Given the description of an element on the screen output the (x, y) to click on. 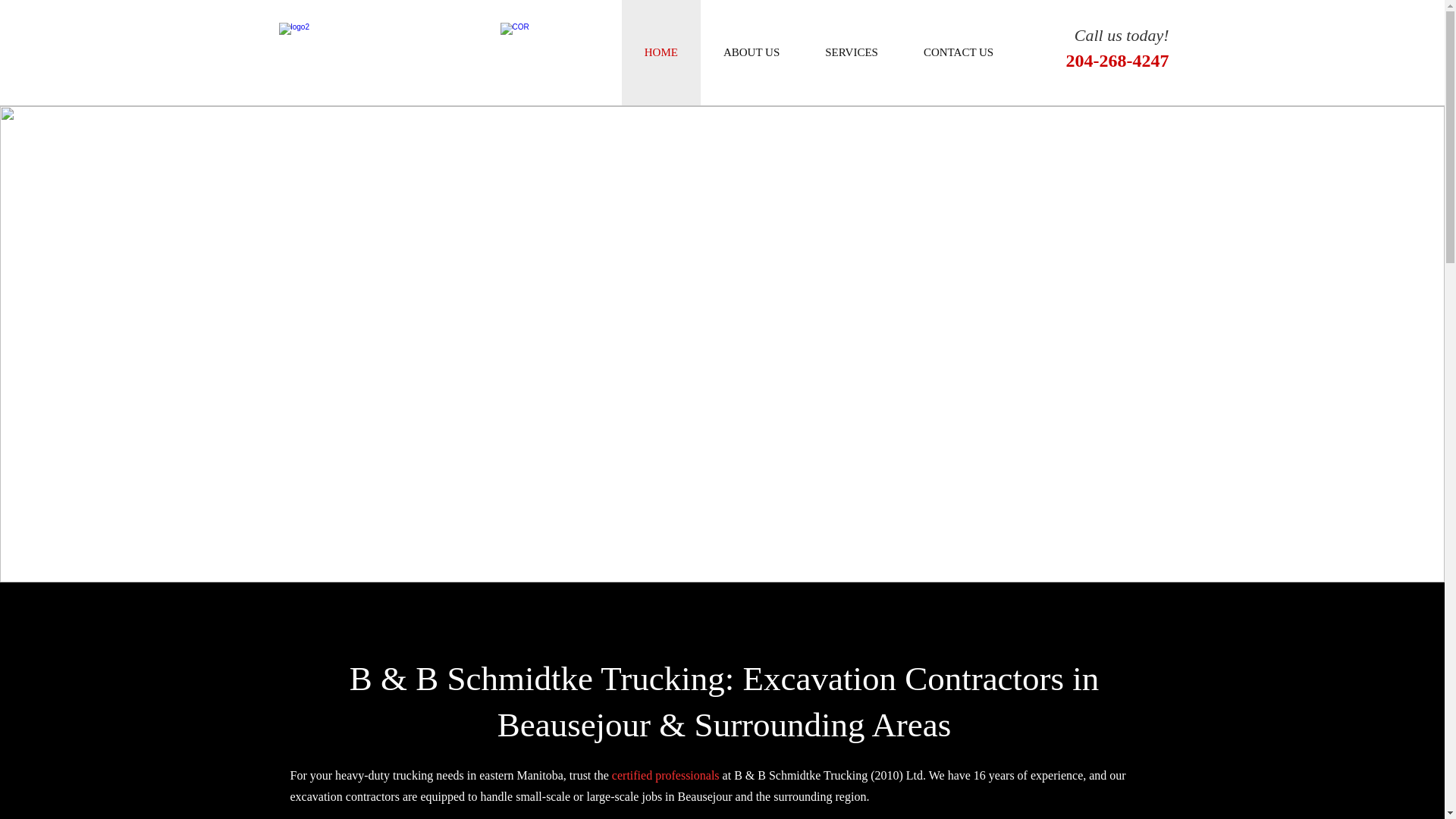
certified professionals Element type: text (663, 774)
HOME Element type: text (660, 52)
CONTACT US Element type: text (958, 52)
CONTACT US Element type: text (721, 431)
204-268-4247 Element type: text (1117, 63)
SERVICES Element type: text (851, 52)
ABOUT US Element type: text (751, 52)
